Given the description of an element on the screen output the (x, y) to click on. 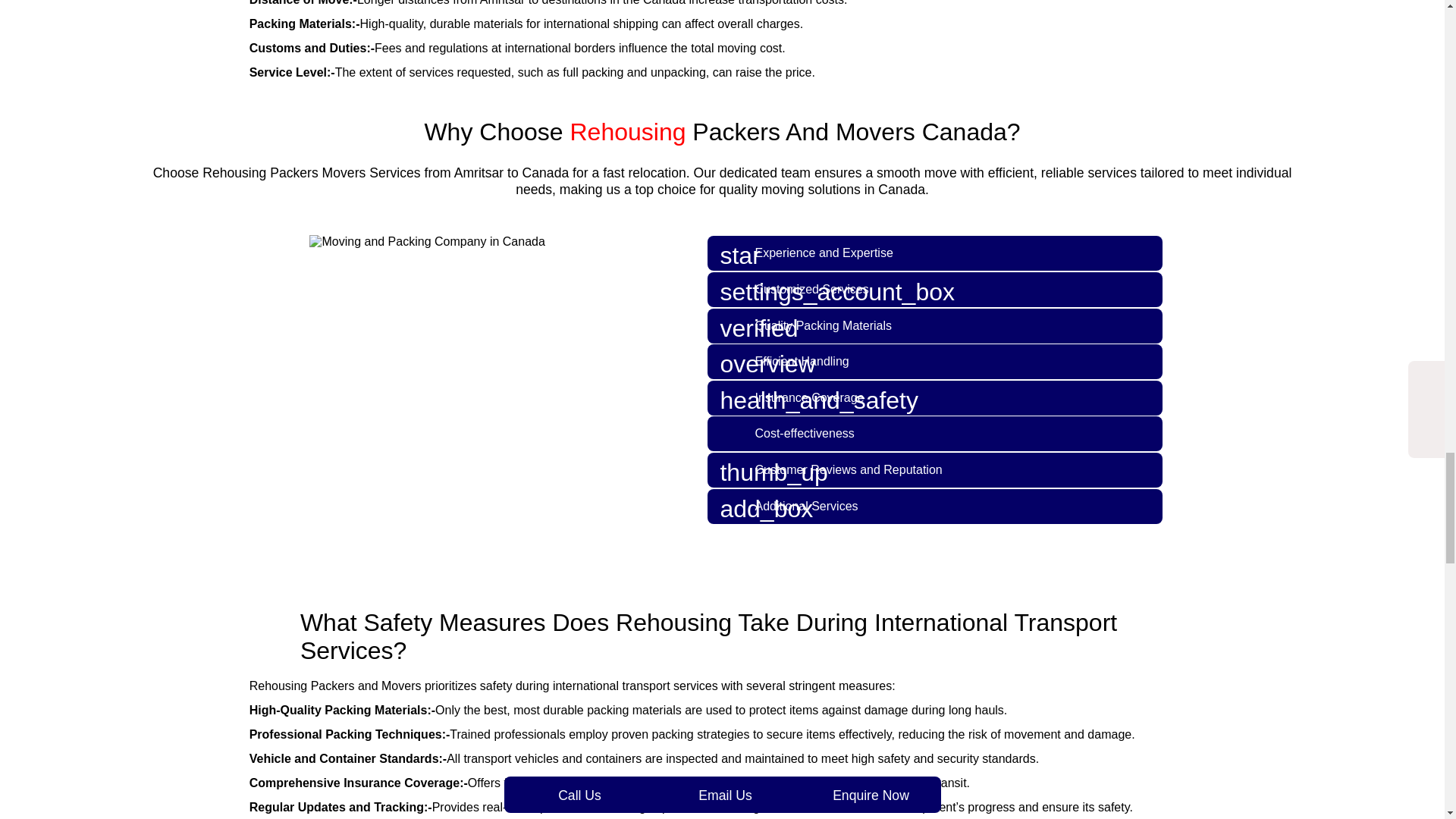
Moving and Packing Company in Canada (426, 241)
